Given the description of an element on the screen output the (x, y) to click on. 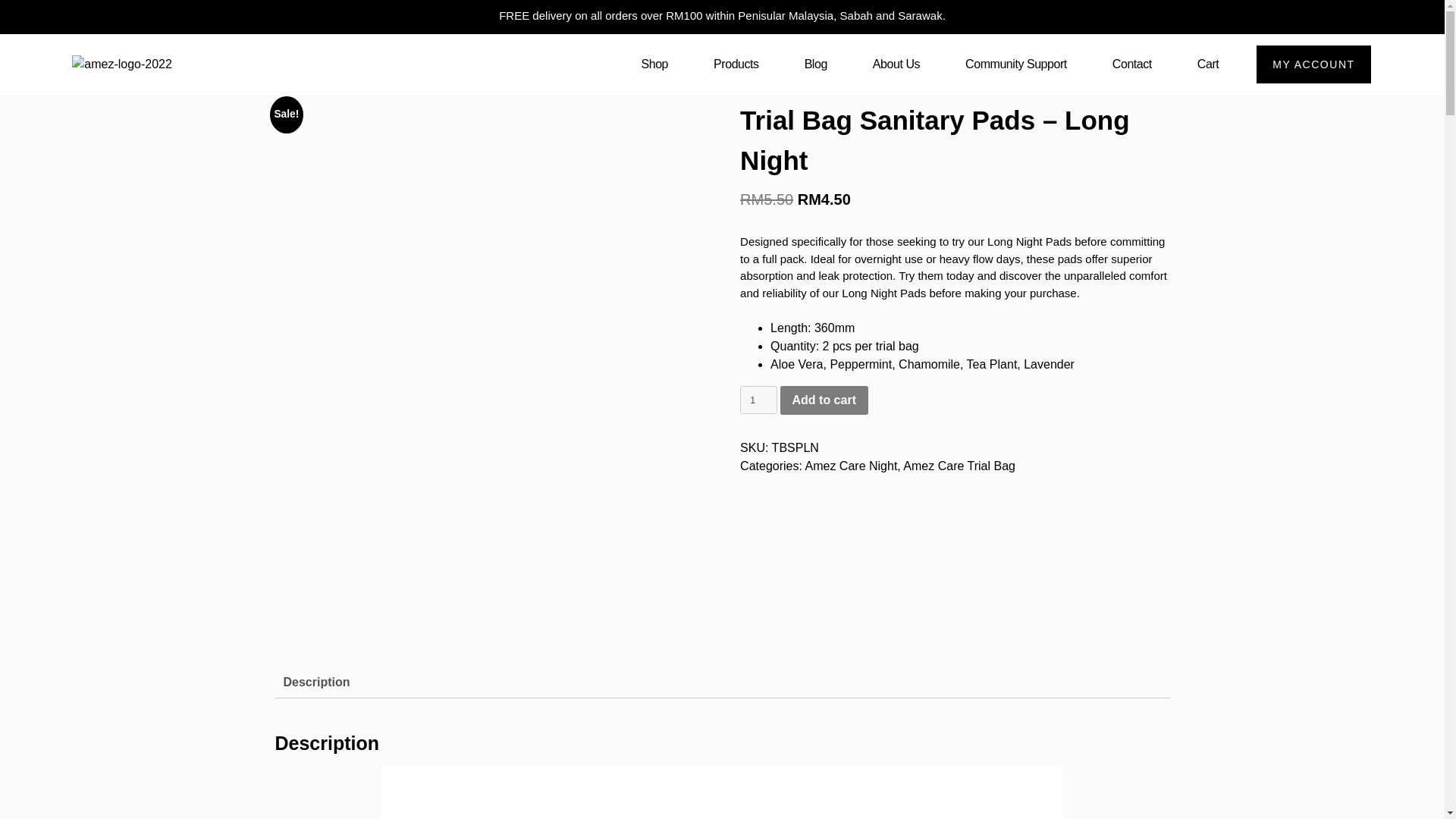
Add to cart (823, 399)
MY ACCOUNT (1313, 64)
Sanitary pads (347, 81)
Shop (655, 64)
Amez Care Night (851, 465)
Home (289, 81)
Cart (1207, 64)
Amez Care Night (433, 81)
Amez Care Trial Bag (958, 465)
Community Support (1016, 64)
Blog (815, 64)
Contact (1131, 64)
1 (757, 399)
Products (736, 64)
amez-logo-2022 (121, 64)
